Given the description of an element on the screen output the (x, y) to click on. 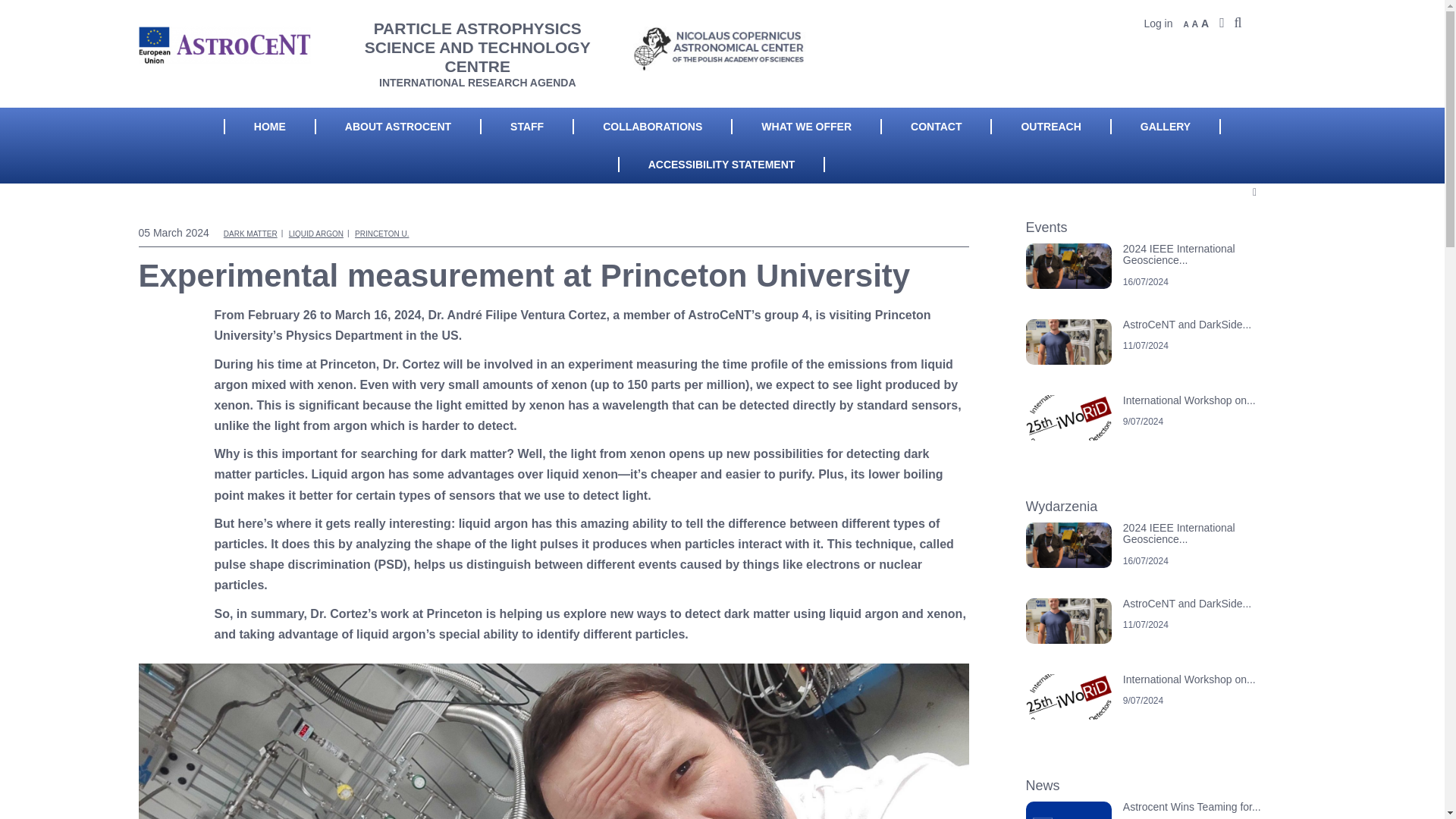
link na astrocent (1160, 356)
ABOUT ASTROCENT (397, 126)
link na astrocent (1160, 281)
CONTACT (935, 126)
OUTREACH (1050, 126)
link na astrocent (1160, 712)
05 March 2024 (178, 232)
HOME (269, 126)
STAFF (526, 126)
link na astrocent (1160, 636)
link na astrocent (1160, 432)
COLLABORATIONS (652, 126)
link na astrocent (1160, 810)
Log in (1157, 23)
WHAT WE OFFER (806, 126)
